Given the description of an element on the screen output the (x, y) to click on. 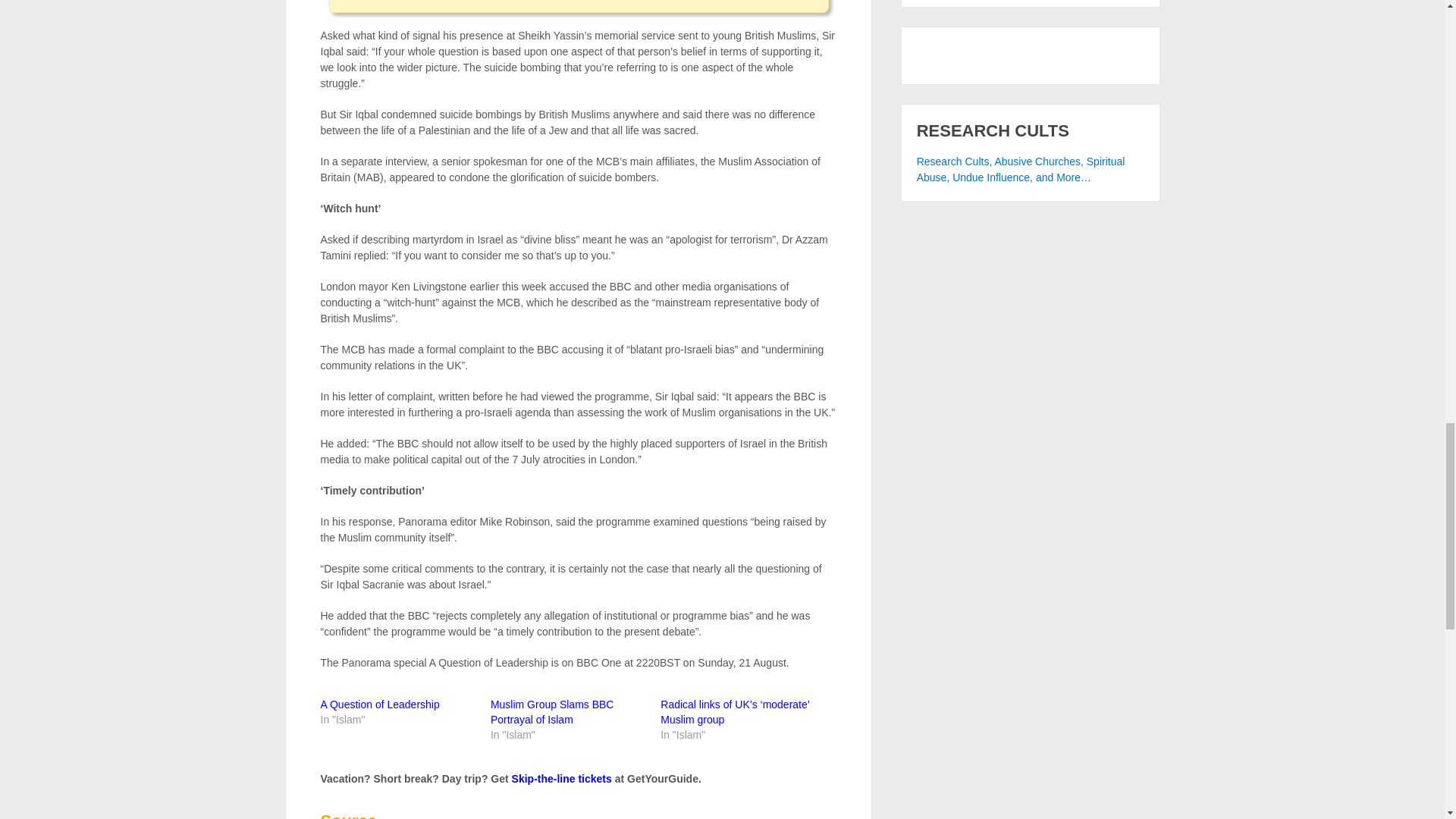
Muslim Group Slams BBC Portrayal of Islam (552, 711)
A Question of Leadership (379, 704)
Muslim Group Slams BBC Portrayal of Islam (552, 711)
Skip-the-line tickets (561, 778)
A Question of Leadership (379, 704)
